Given the description of an element on the screen output the (x, y) to click on. 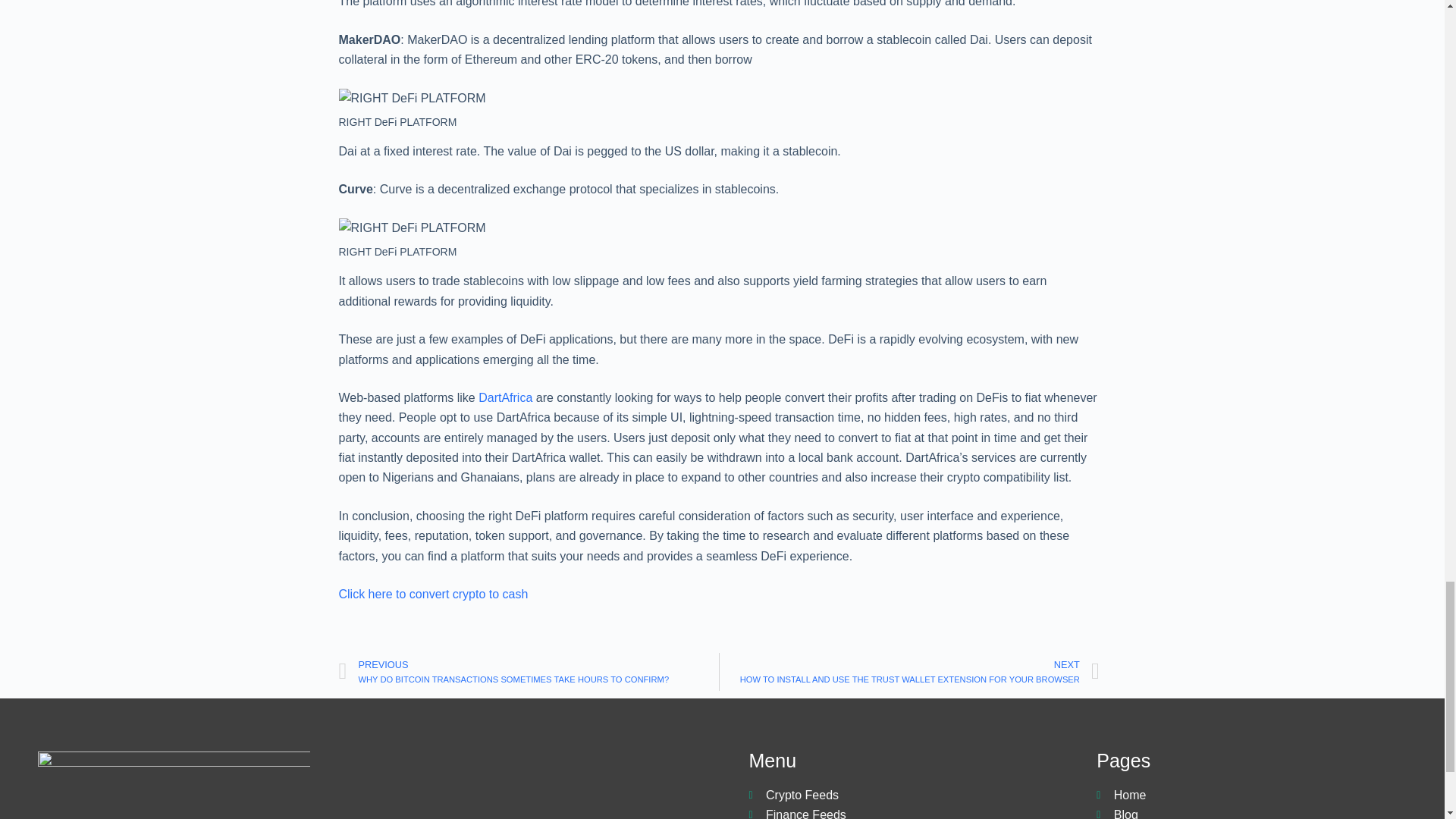
Home (1262, 795)
HOW TO CHOOSE THE RIGHT DeFi PLATFORM 5 (410, 228)
DartAfrica (505, 397)
Crypto Feeds (915, 795)
Click here to convert crypto to cash (432, 594)
Blog (1262, 812)
HOW TO CHOOSE THE RIGHT DeFi PLATFORM 4 (410, 98)
Finance Feeds (915, 812)
